Given the description of an element on the screen output the (x, y) to click on. 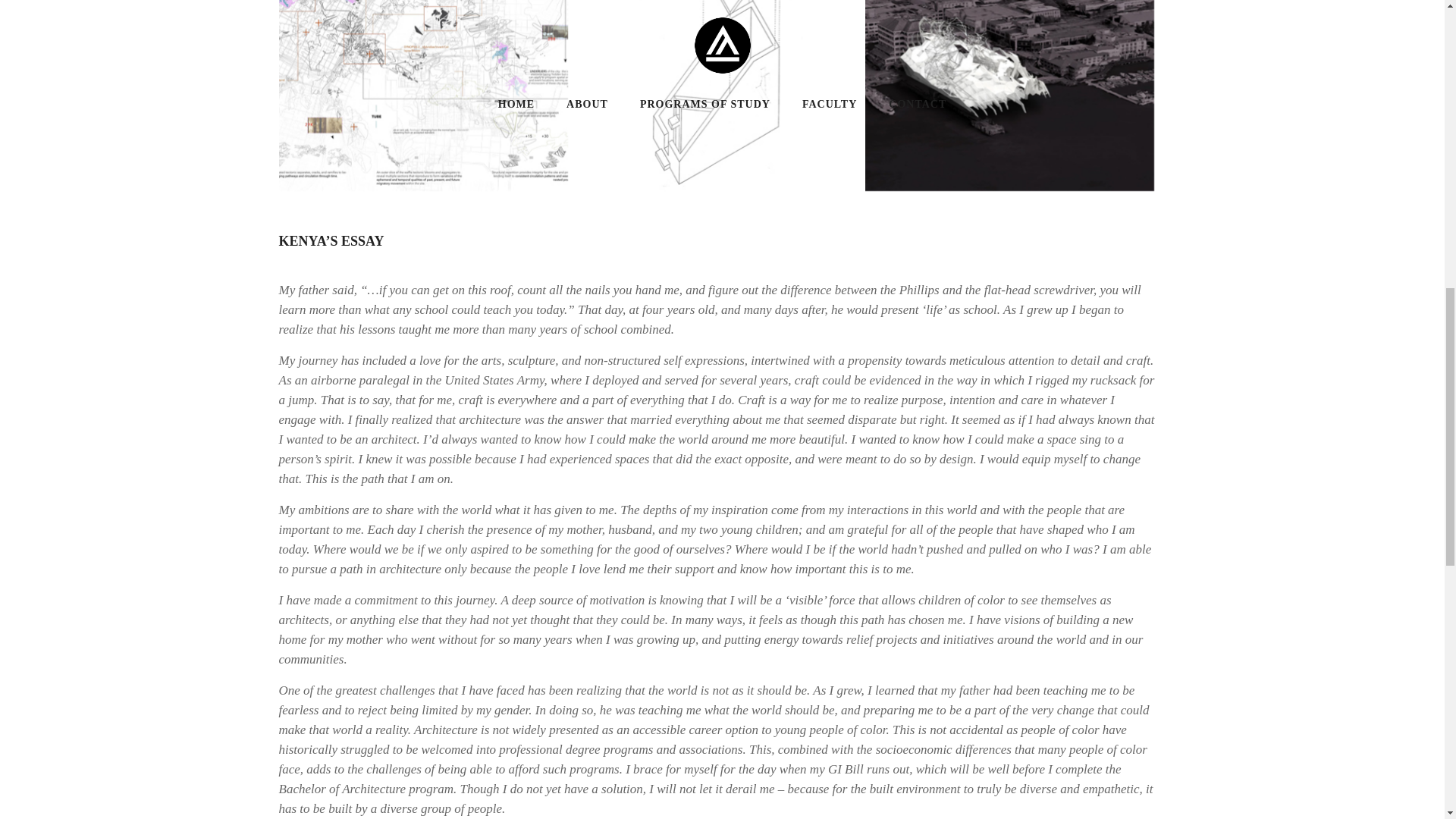
som-kenya-6 (1009, 95)
som-kenya-4 (716, 95)
som-kenya-5 (424, 95)
